Given the description of an element on the screen output the (x, y) to click on. 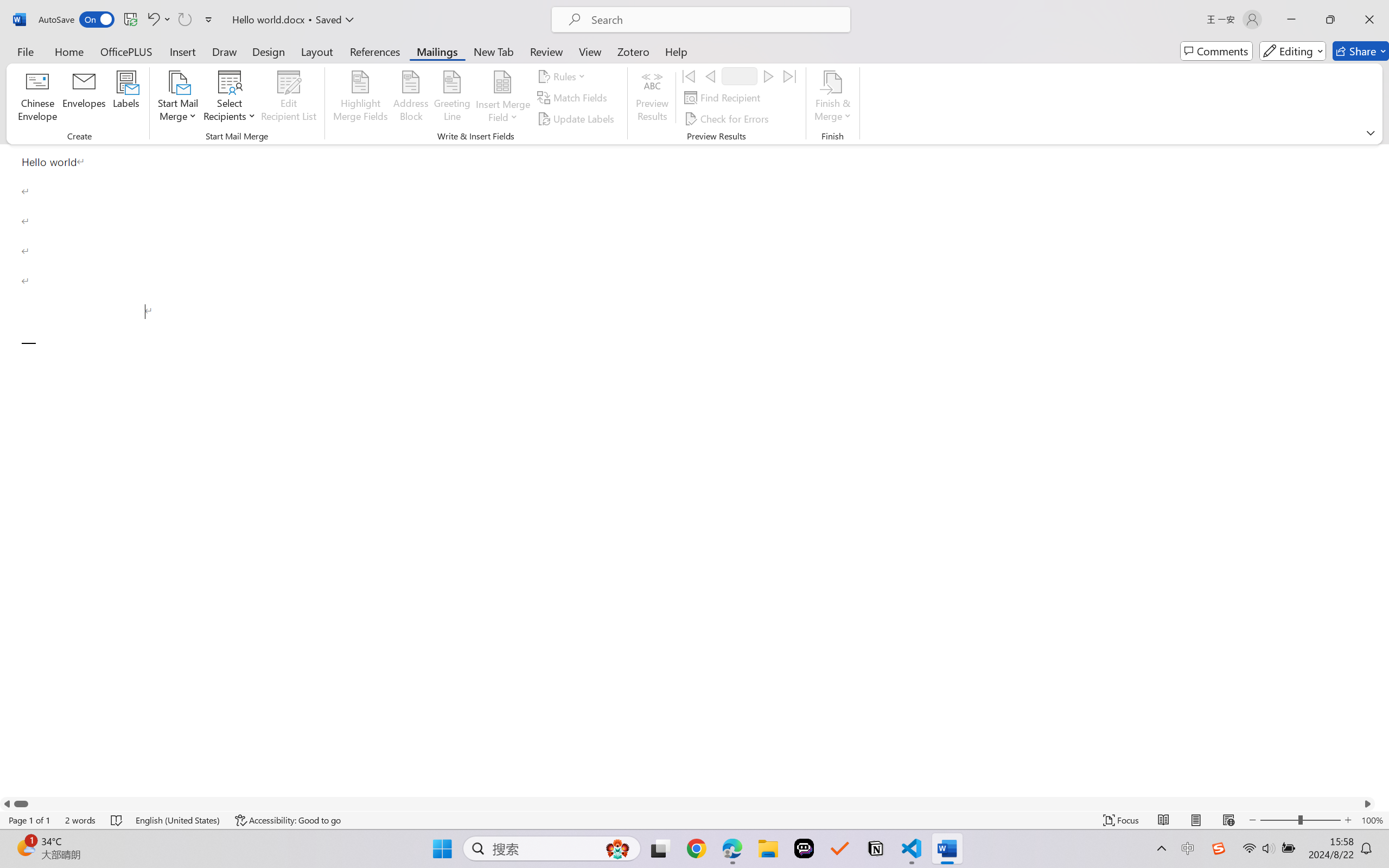
Page right (694, 803)
Restore Down (1330, 19)
Share (1360, 51)
Column left (6, 803)
Editing (1292, 50)
